Given the description of an element on the screen output the (x, y) to click on. 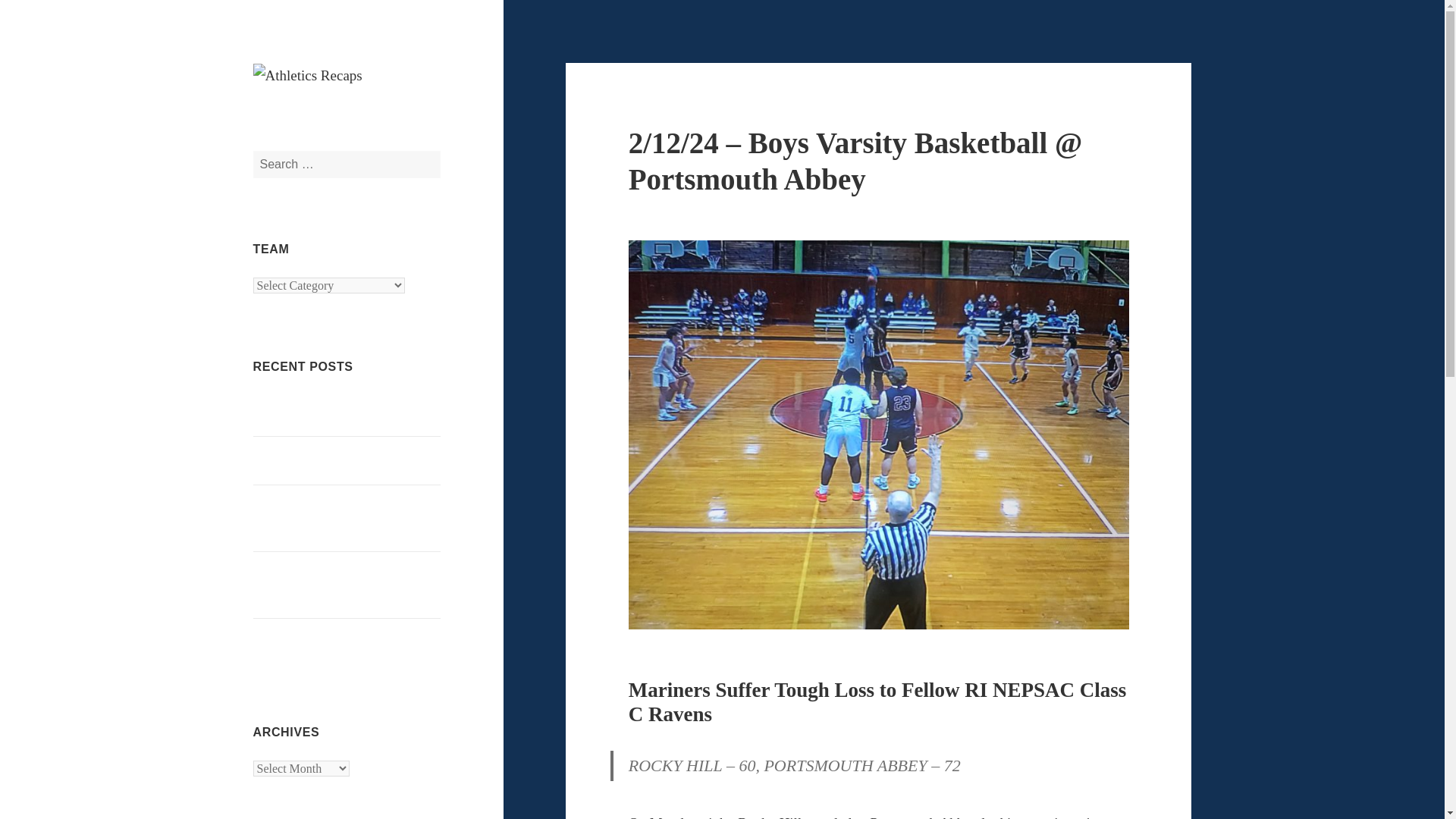
Athletics Recaps (336, 111)
